Given the description of an element on the screen output the (x, y) to click on. 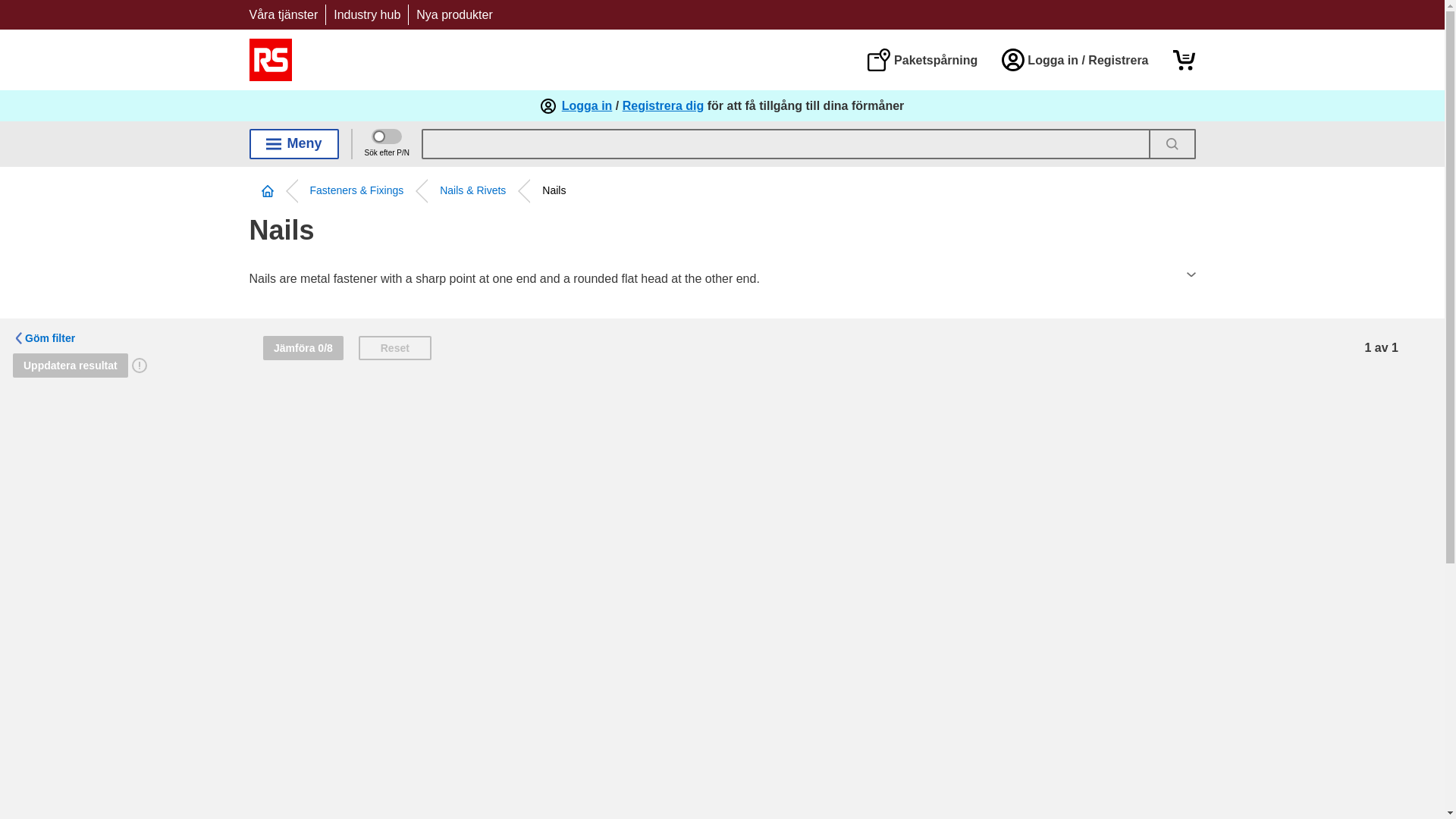
Industry hub (366, 14)
Logga in (587, 105)
Nya produkter (454, 14)
Meny (292, 143)
Registrera dig (663, 105)
